Given the description of an element on the screen output the (x, y) to click on. 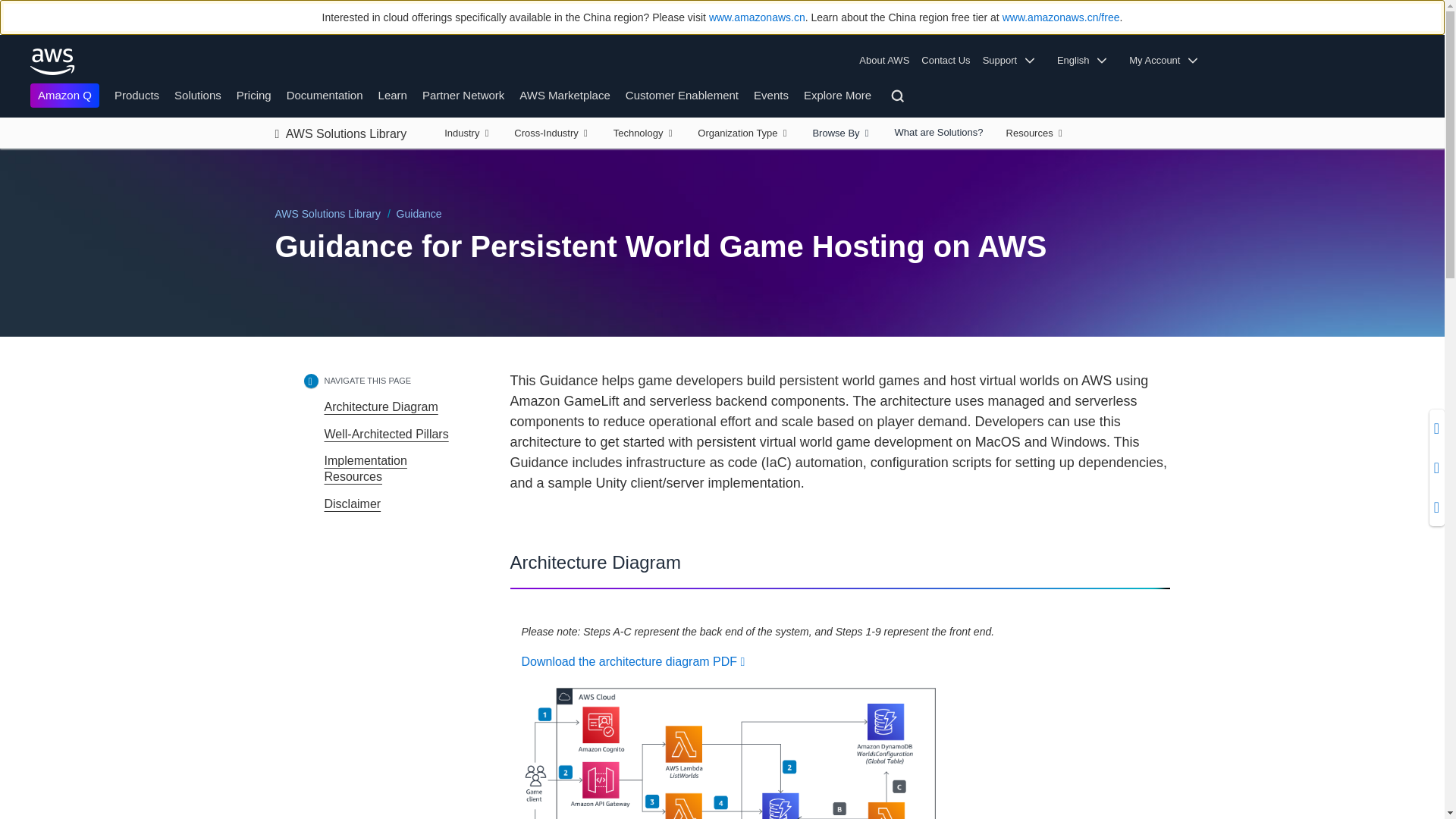
Click here to return to Amazon Web Services homepage (52, 61)
Skip to main content (7, 155)
Browse all solutions (841, 132)
Partner Network (462, 94)
What's are Solutions? (938, 132)
Events (771, 94)
Documentation (324, 94)
My Account   (1168, 60)
Explore More (836, 94)
